Given the description of an element on the screen output the (x, y) to click on. 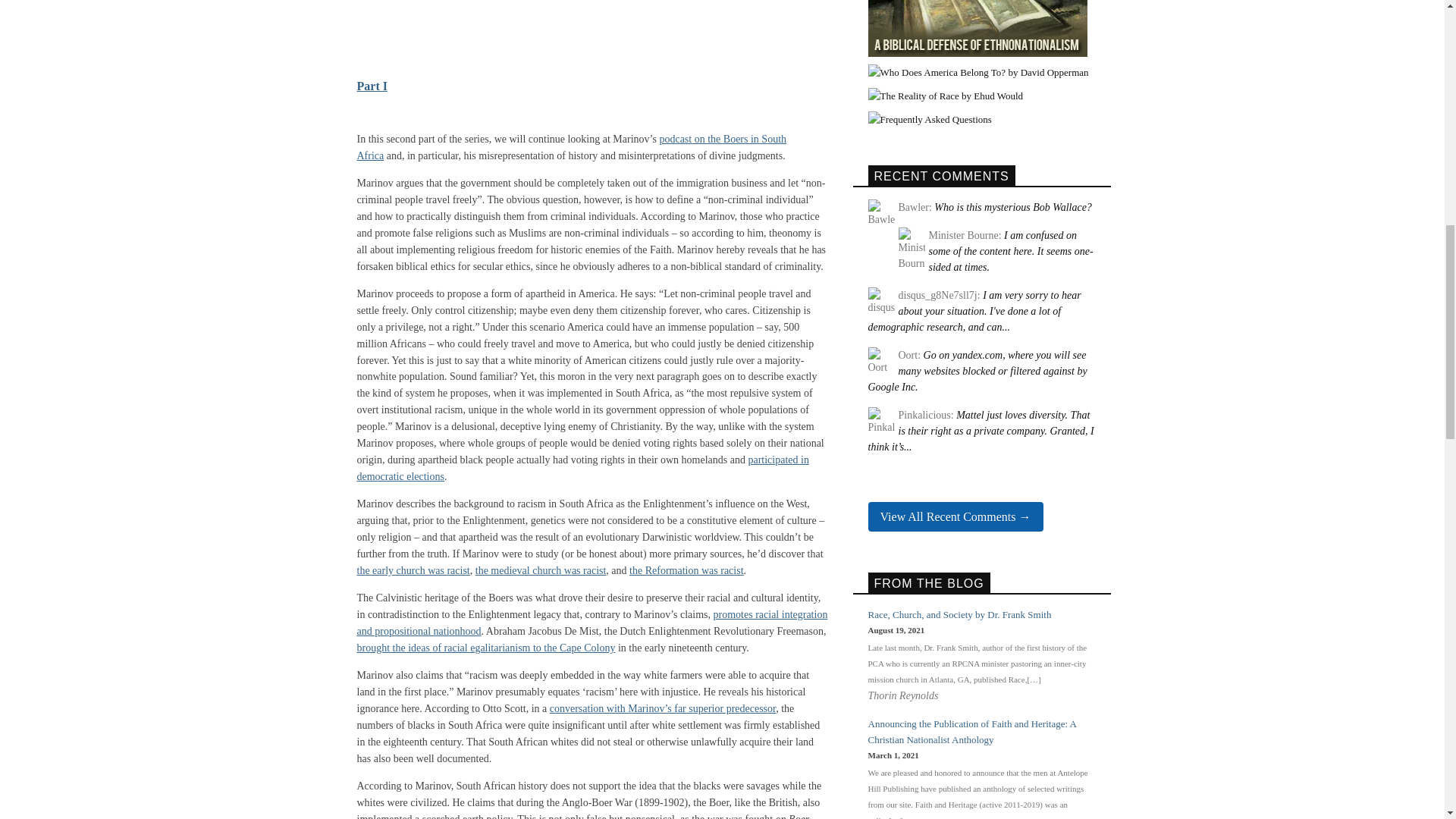
Posted on The Pincer Movement of Islamo-Feminism (980, 430)
Posted on Great Places for White People to Live (976, 371)
Posted on Finis Dake on Racial Segregation (1010, 251)
Posted on Great Places for White People to Live (973, 310)
